Given the description of an element on the screen output the (x, y) to click on. 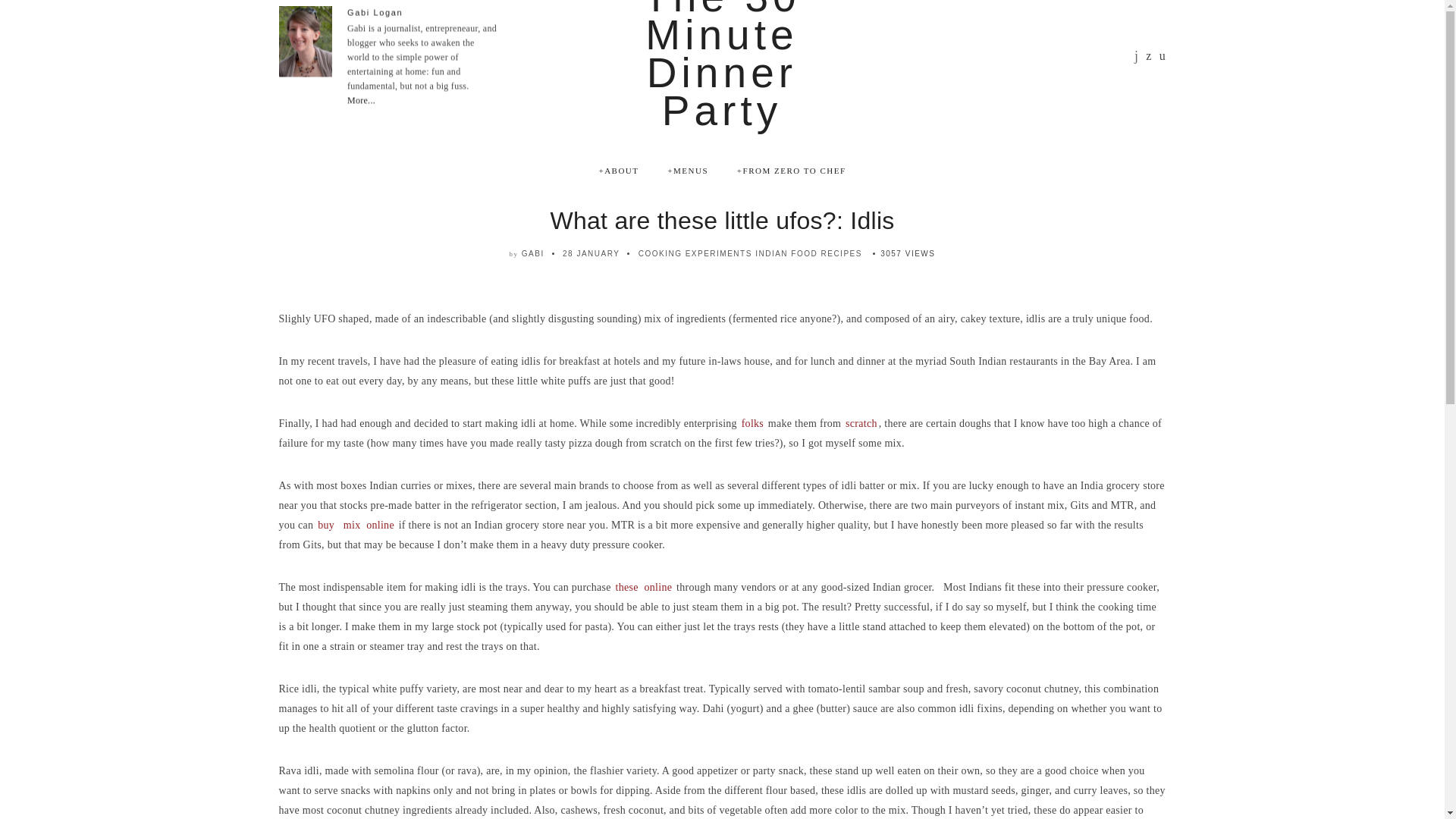
Posts by Gabi (532, 253)
Gabi Logan (375, 11)
More... (361, 100)
The 30 Minute Dinner Party (722, 67)
January 28, 2010 2:17 (591, 253)
